Given the description of an element on the screen output the (x, y) to click on. 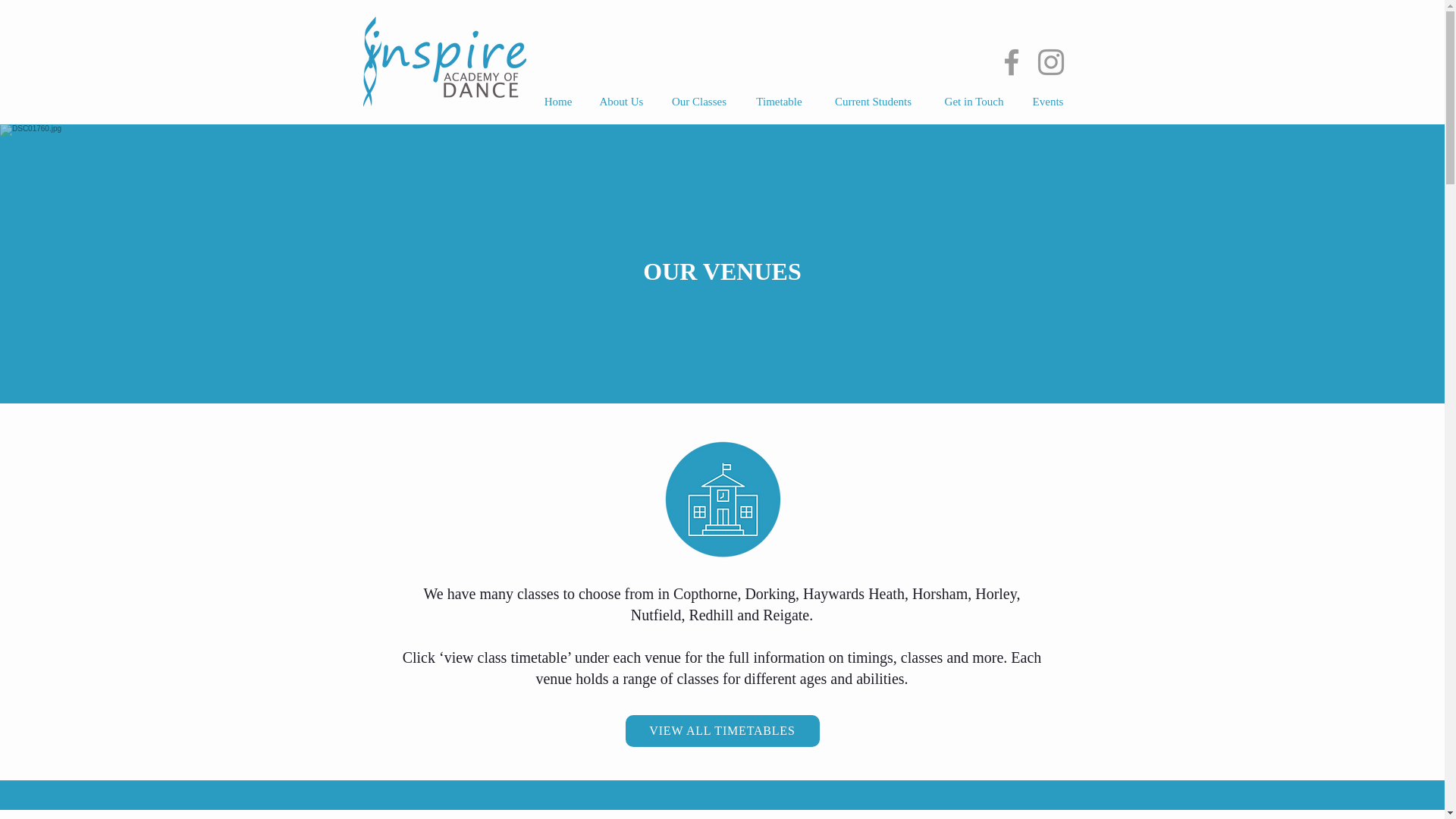
Events (1048, 101)
Home (558, 101)
VIEW ALL TIMETABLES (721, 730)
Timetable (778, 101)
Current Students (873, 101)
About Us (620, 101)
Our Classes (698, 101)
Get in Touch (974, 101)
